Given the description of an element on the screen output the (x, y) to click on. 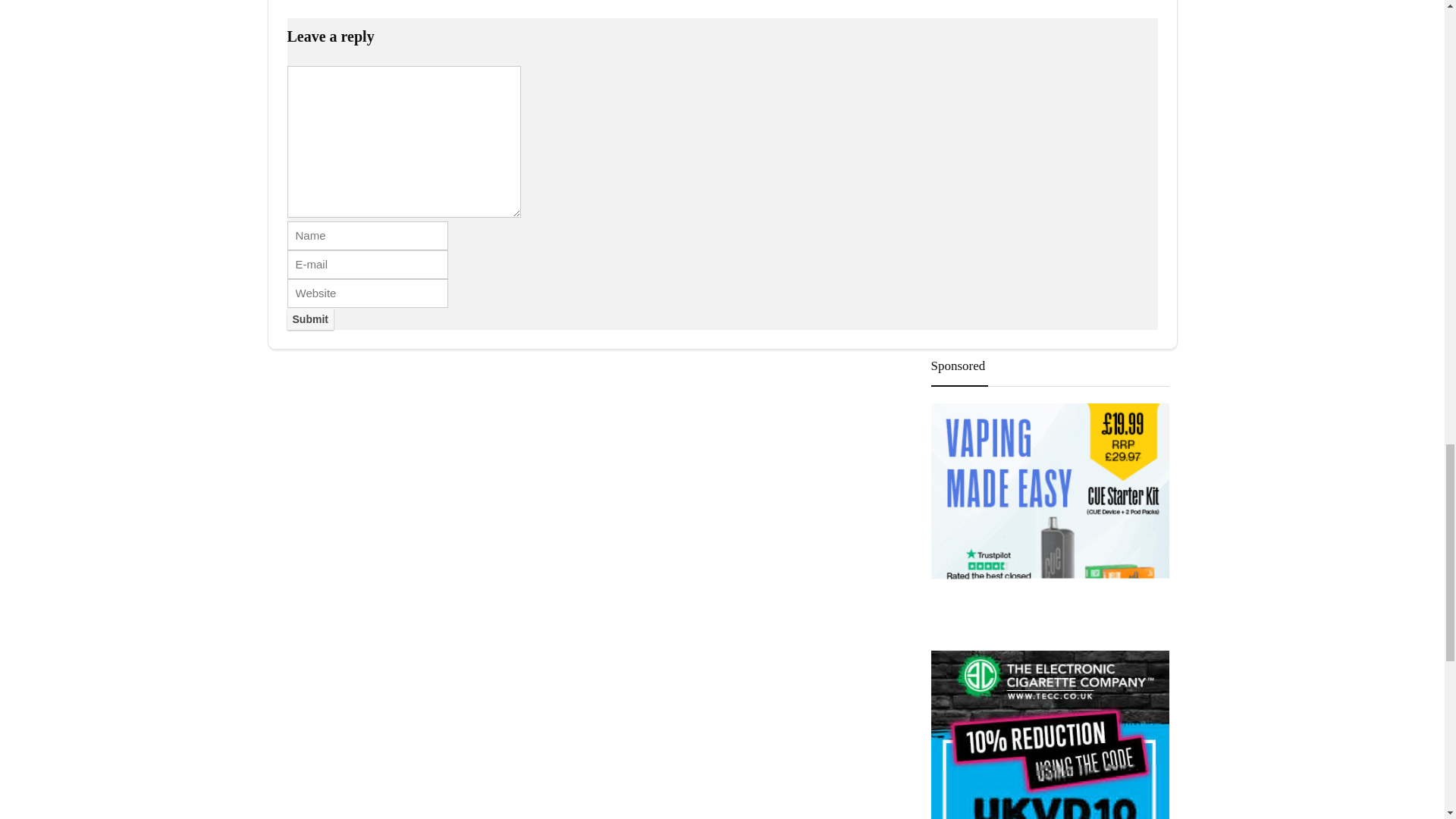
Submit (309, 319)
Submit (309, 319)
